Given the description of an element on the screen output the (x, y) to click on. 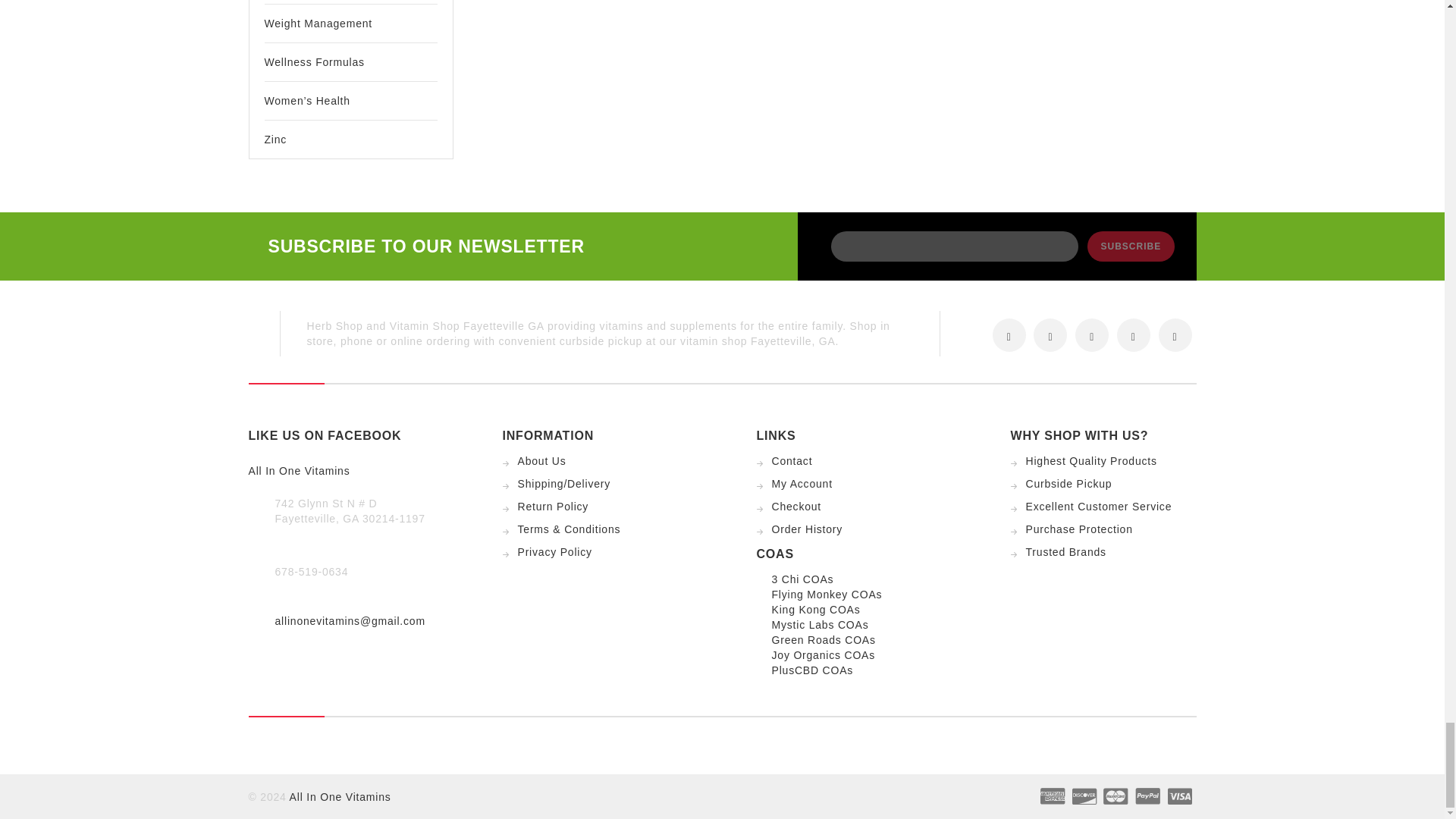
Subscribe (1130, 245)
